Given the description of an element on the screen output the (x, y) to click on. 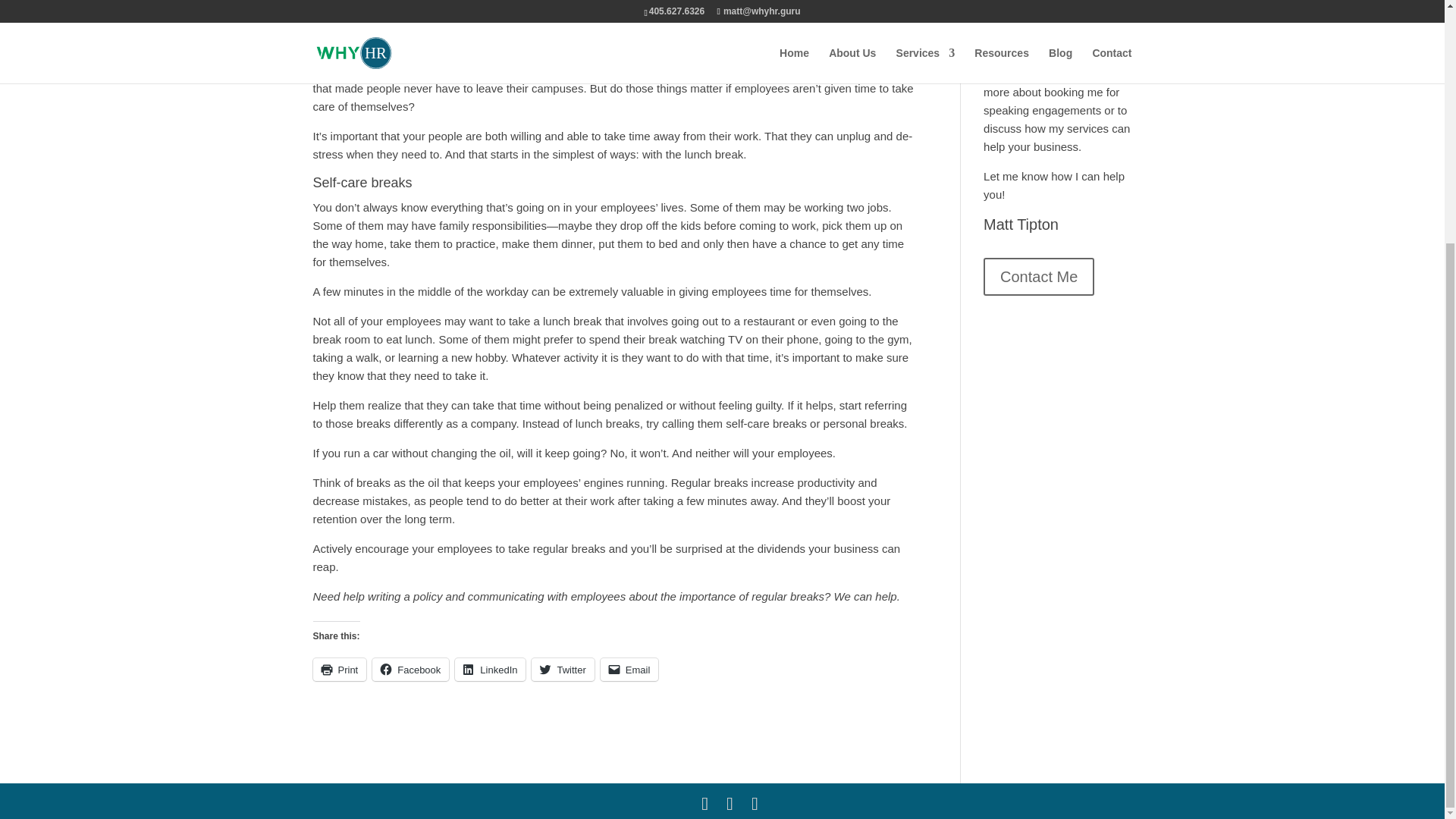
Rethinking the Four-Day Work Week (1045, 7)
Print (339, 669)
Click to print (339, 669)
Click to email a link to a friend (629, 669)
Click to share on Twitter (562, 669)
Click to share on LinkedIn (489, 669)
Twitter (562, 669)
Facebook (410, 669)
LinkedIn (489, 669)
Contact Me (1039, 276)
Click to share on Facebook (410, 669)
Email (629, 669)
